Given the description of an element on the screen output the (x, y) to click on. 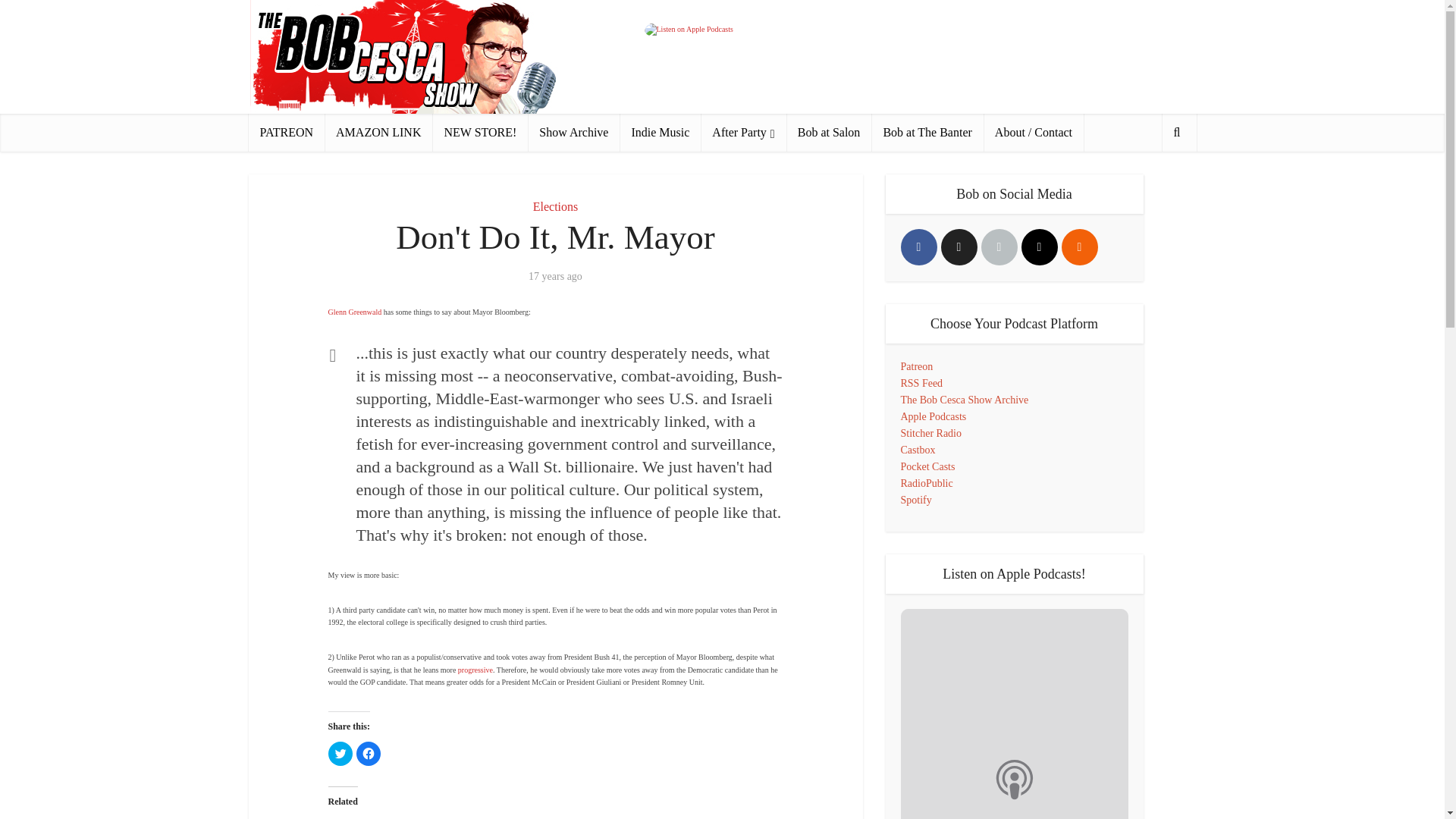
AMAZON LINK (378, 132)
PATREON (286, 132)
Bob at Salon (829, 132)
rss (1079, 247)
Pocket Casts (928, 466)
NEW STORE! (479, 132)
facebook (919, 247)
progressive (475, 669)
Glenn Greenwald (354, 311)
instagram (1038, 247)
The Bob Cesca Show Archive (965, 399)
Elections (555, 205)
Instagram (1038, 247)
